Given the description of an element on the screen output the (x, y) to click on. 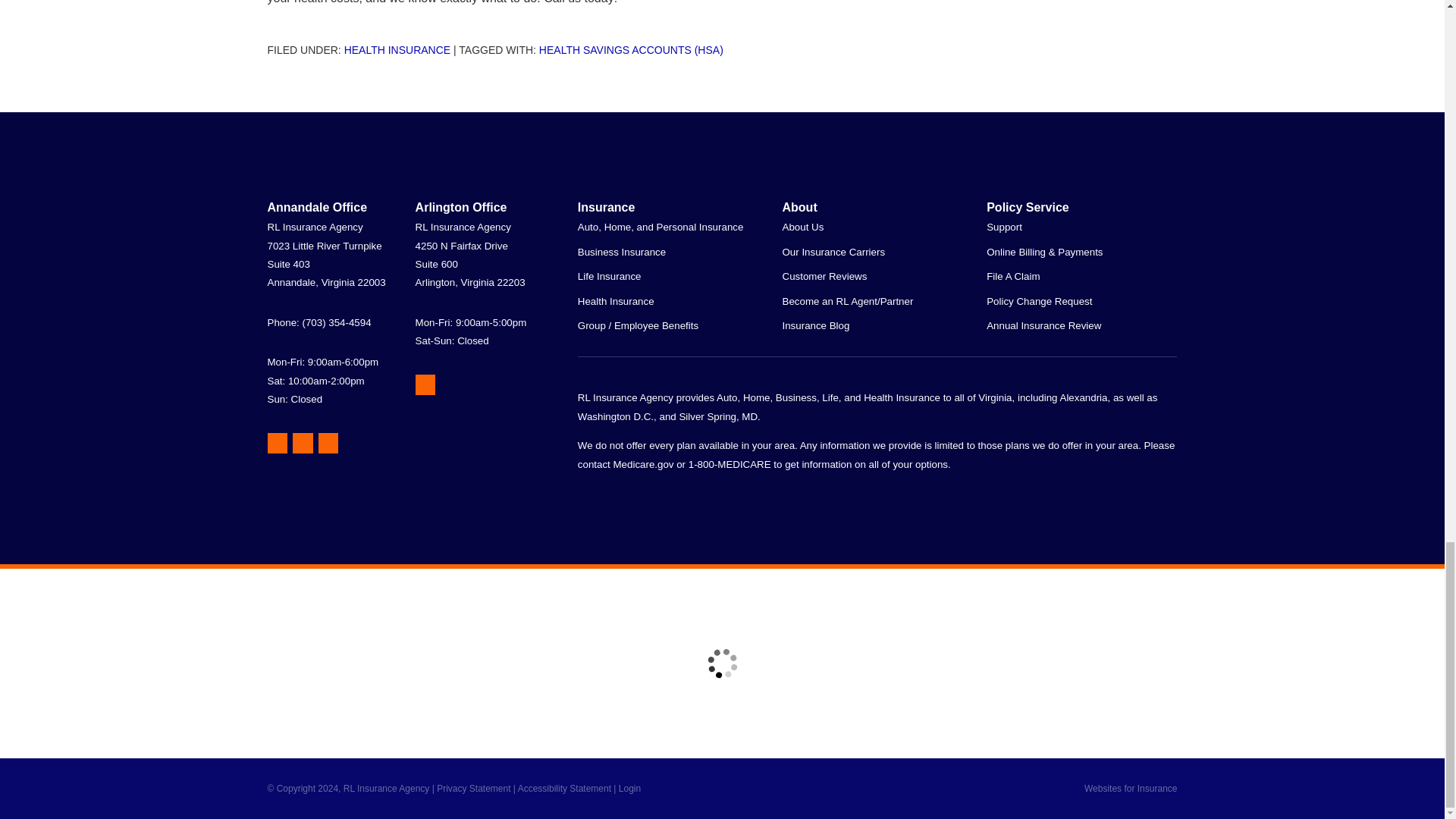
Google Maps (424, 384)
Health Insurance (397, 50)
Facebook (328, 443)
Google Maps (276, 443)
Yelp (302, 443)
